Given the description of an element on the screen output the (x, y) to click on. 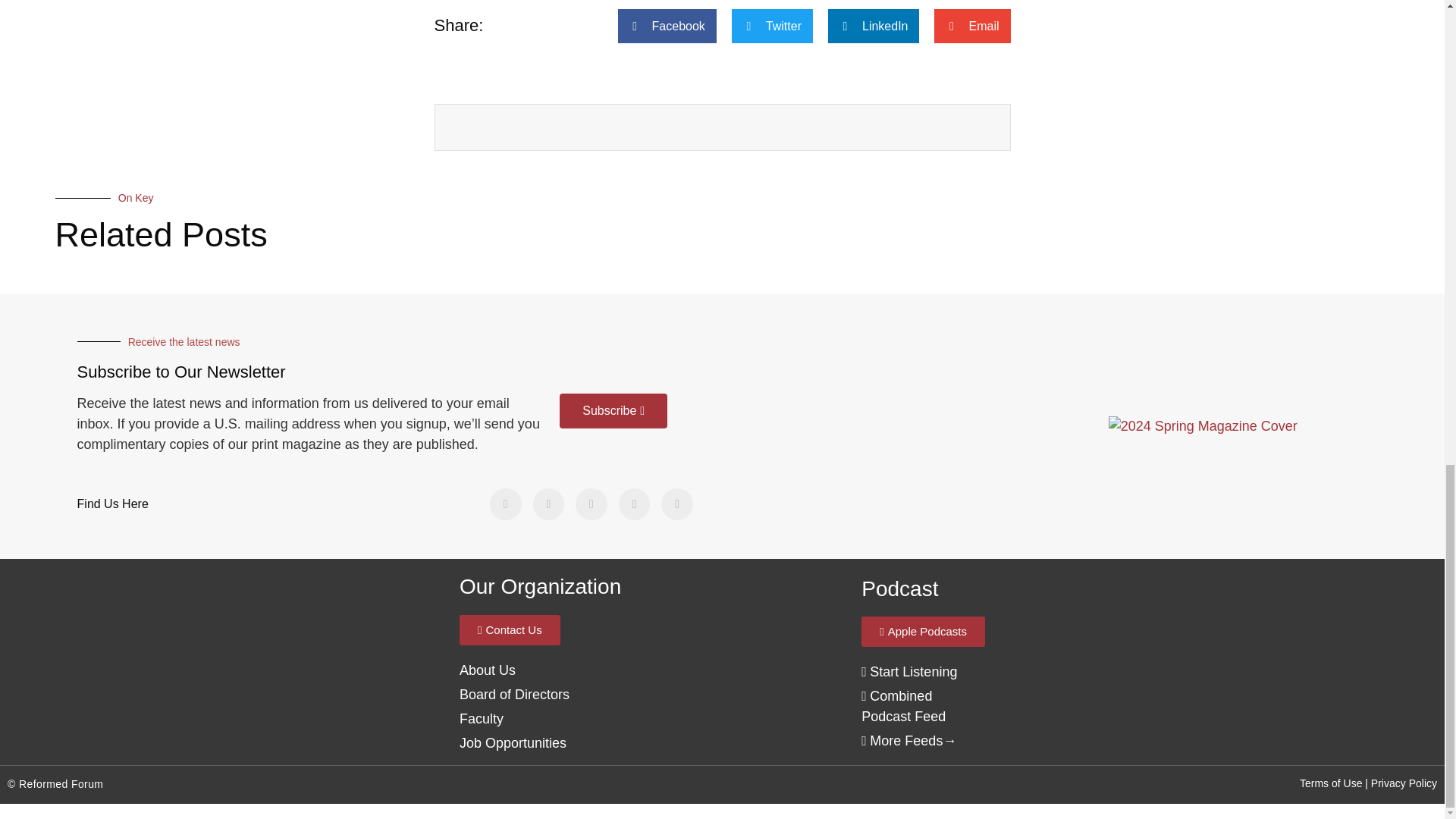
More Feeds (901, 740)
About Us (514, 694)
About Us (487, 670)
2024 Spring Magazine Cover (1202, 426)
Podcast Feed (902, 705)
Faculty (481, 718)
Podcast Feed (908, 671)
